Given the description of an element on the screen output the (x, y) to click on. 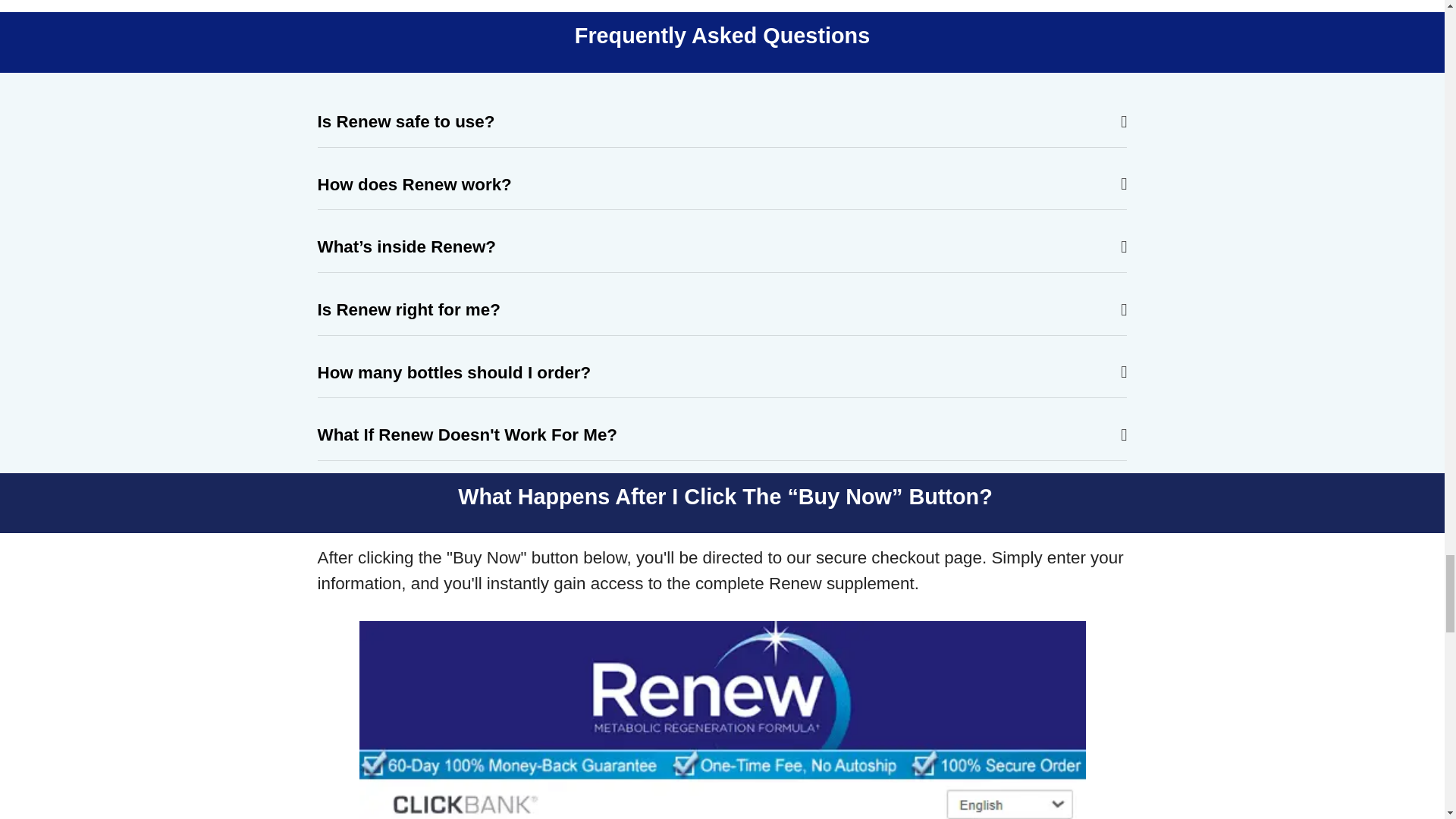
How many bottles should I order? (721, 372)
Is Renew safe to use? (721, 121)
Is Renew right for me? (721, 309)
What If Renew Doesn't Work For Me? (721, 434)
How does Renew work? (721, 184)
